Given the description of an element on the screen output the (x, y) to click on. 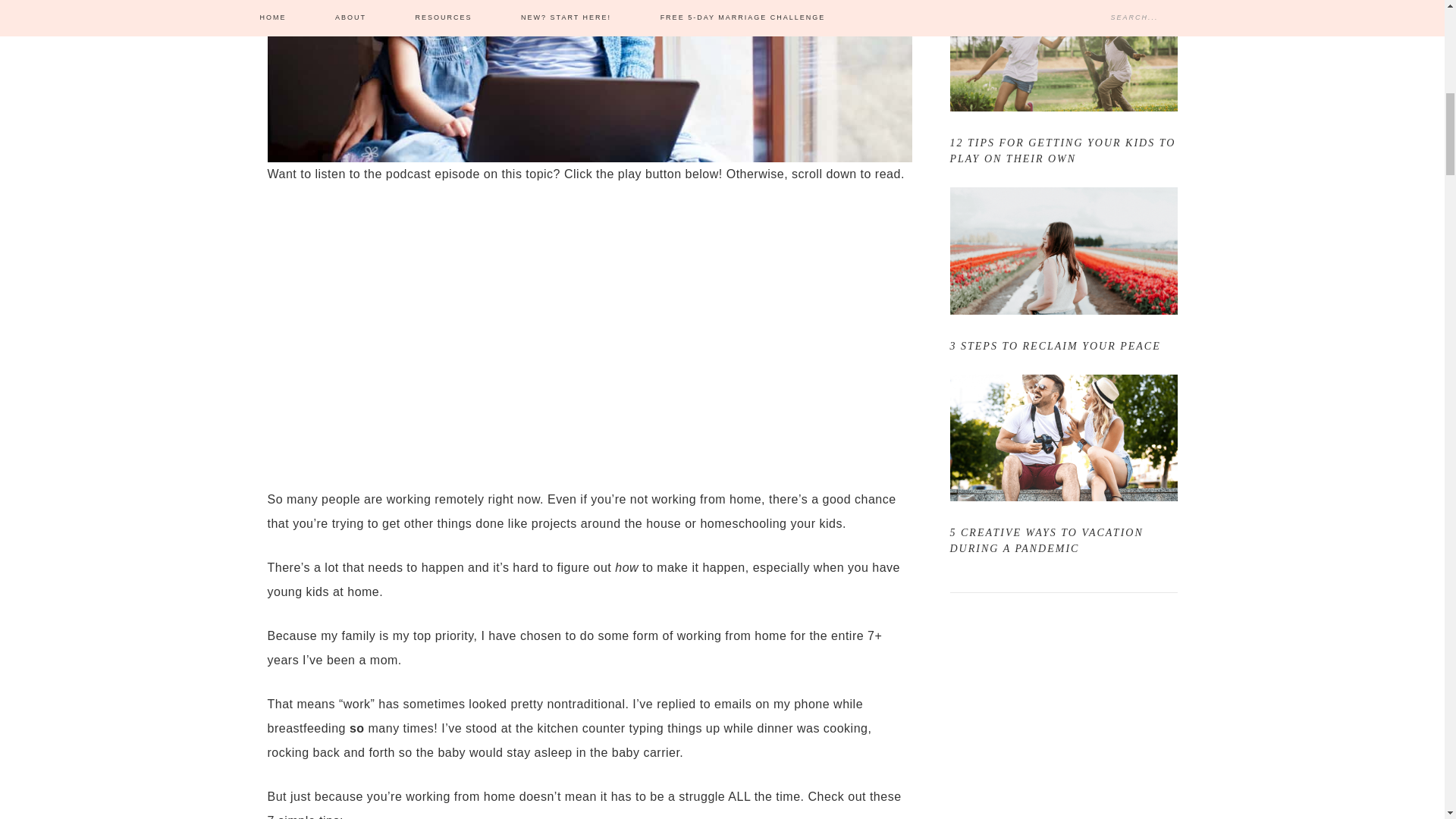
12 TIPS FOR GETTING YOUR KIDS TO PLAY ON THEIR OWN (1061, 150)
5 CREATIVE WAYS TO VACATION DURING A PANDEMIC (1045, 540)
3 STEPS TO RECLAIM YOUR PEACE (1054, 346)
